Given the description of an element on the screen output the (x, y) to click on. 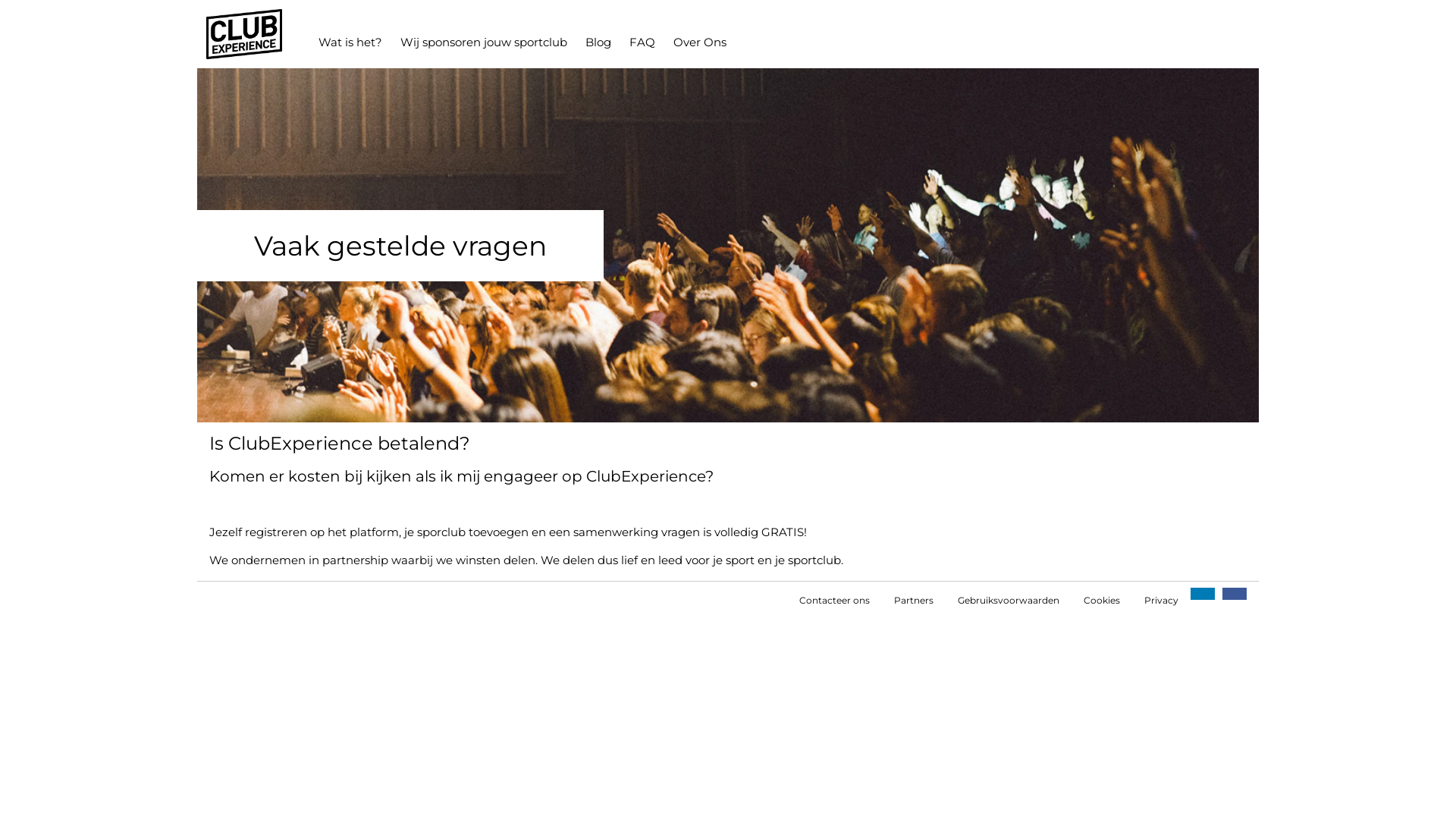
Contacteer ons Element type: text (834, 600)
Wij sponsoren jouw sportclub Element type: text (483, 42)
Gebruiksvoorwaarden Element type: text (1008, 600)
Cookies Element type: text (1101, 600)
Partners Element type: text (913, 600)
FAQ Element type: text (642, 42)
Privacy Element type: text (1161, 600)
Blog Element type: text (598, 42)
Over Ons Element type: text (699, 42)
Wat is het? Element type: text (350, 42)
